Given the description of an element on the screen output the (x, y) to click on. 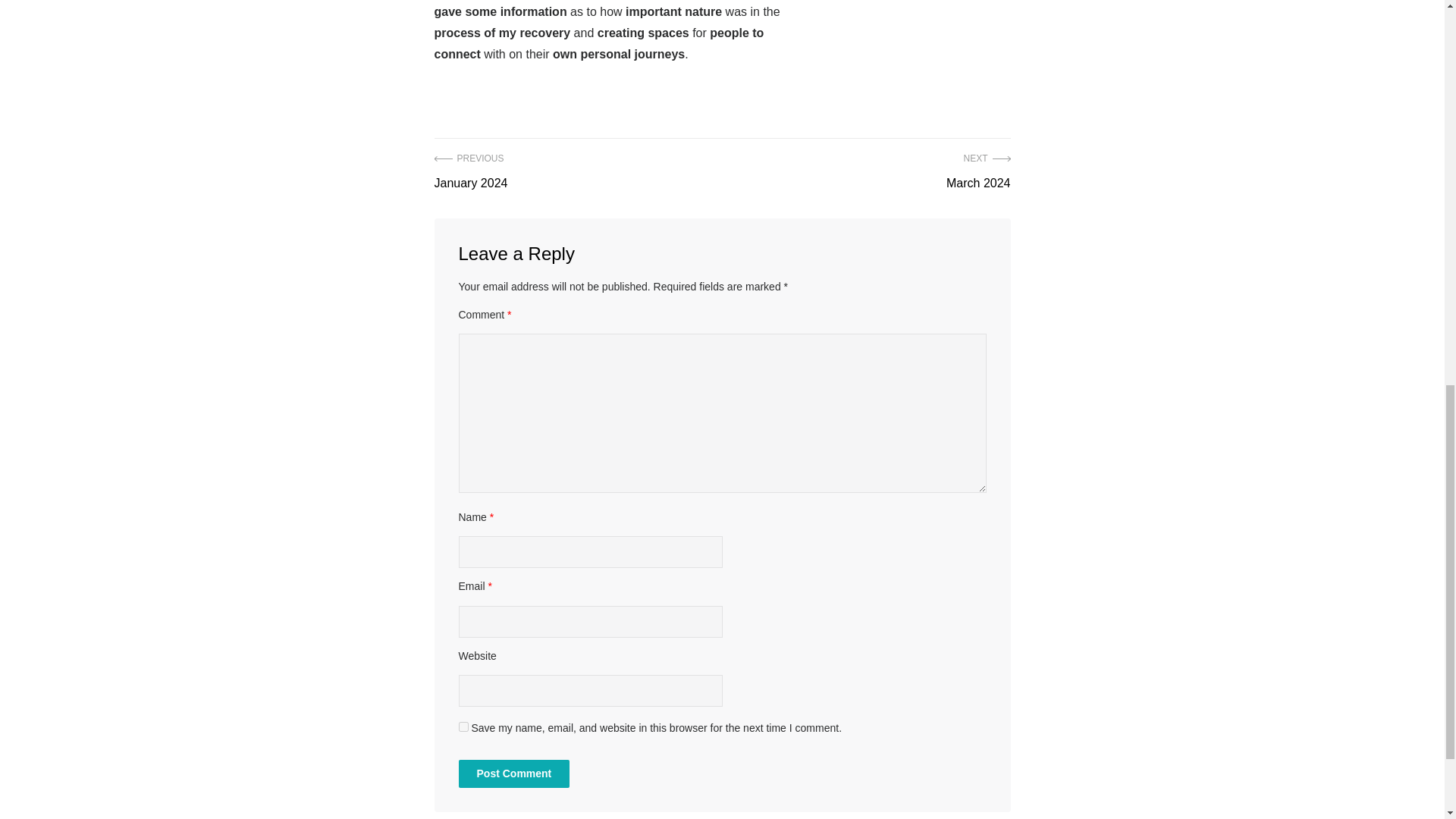
Post Comment (469, 172)
Post Comment (513, 773)
yes (978, 172)
